Given the description of an element on the screen output the (x, y) to click on. 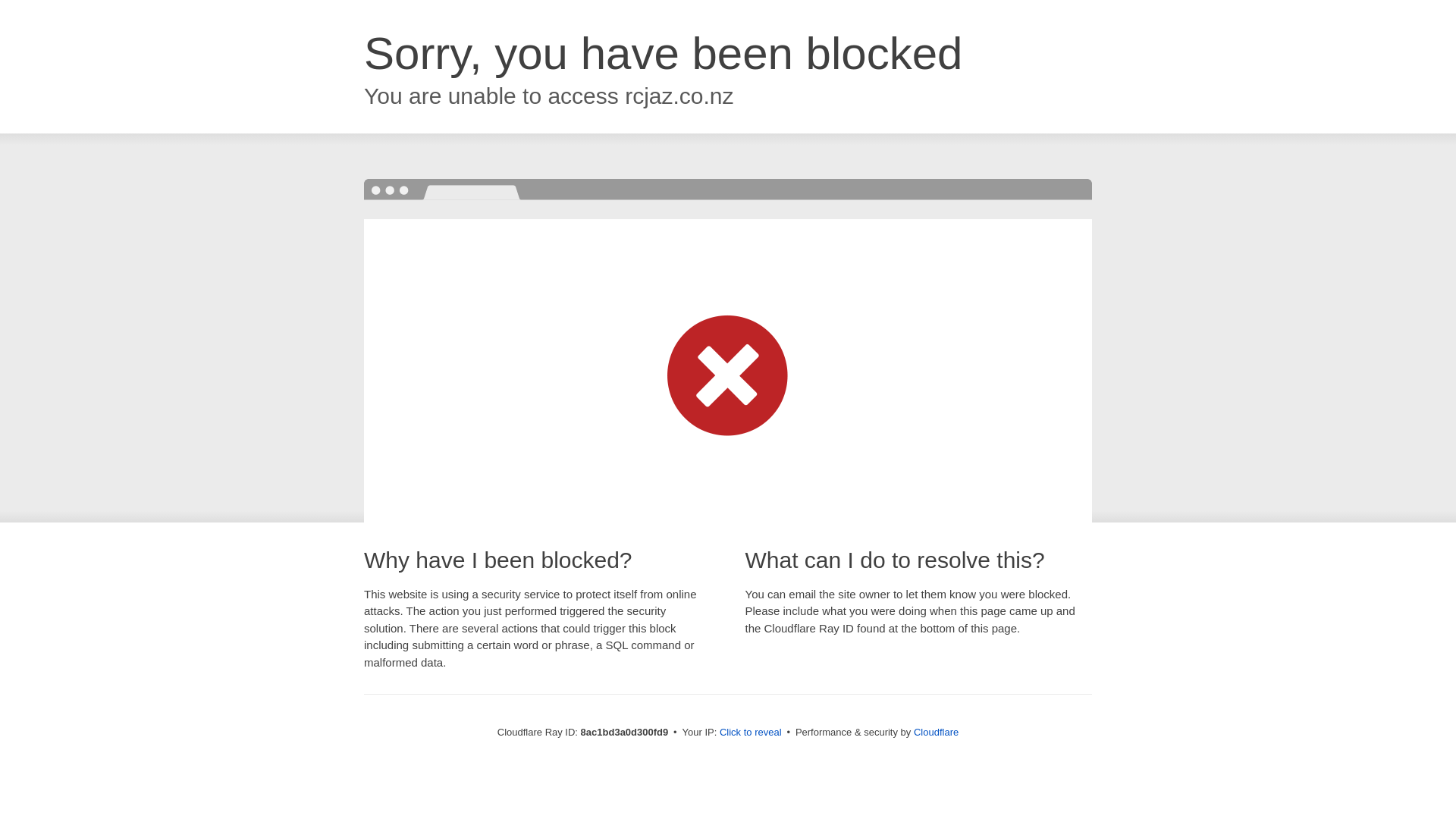
Cloudflare (936, 731)
Click to reveal (750, 732)
